Given the description of an element on the screen output the (x, y) to click on. 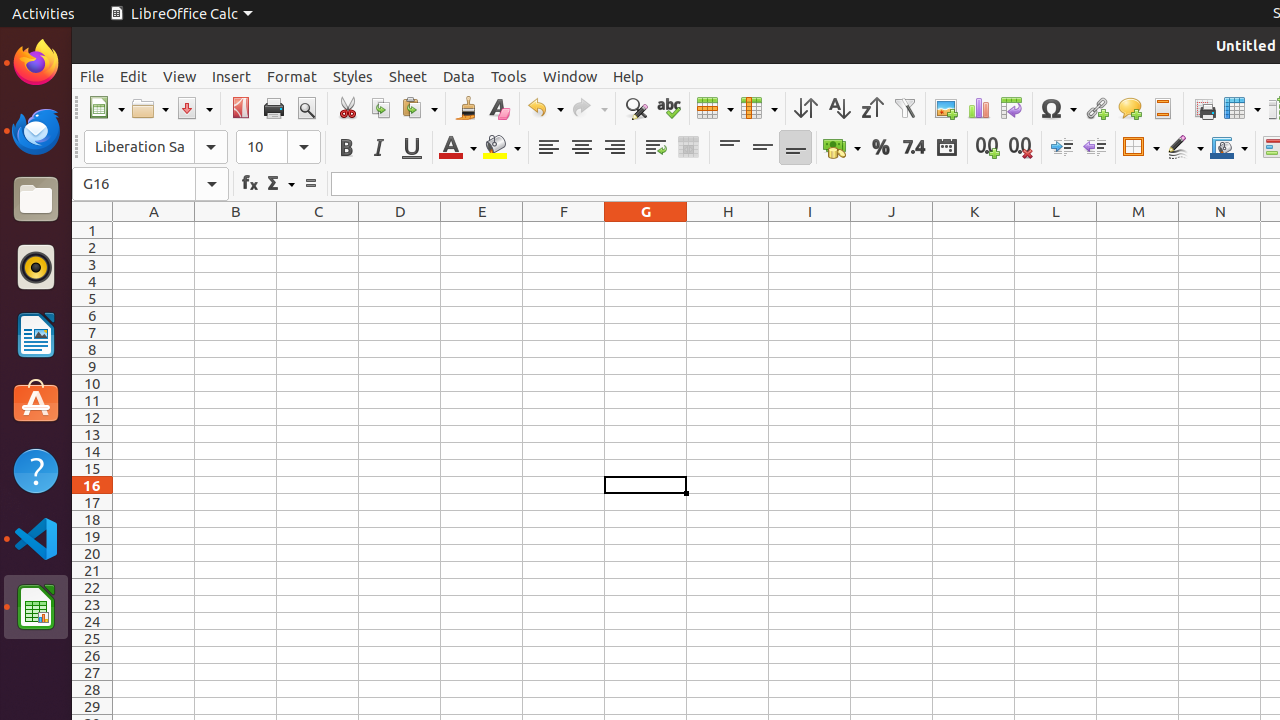
New Element type: push-button (106, 108)
Row Element type: push-button (715, 108)
Copy Element type: push-button (380, 108)
Freeze Rows and Columns Element type: push-button (1242, 108)
Find & Replace Element type: toggle-button (635, 108)
